Given the description of an element on the screen output the (x, y) to click on. 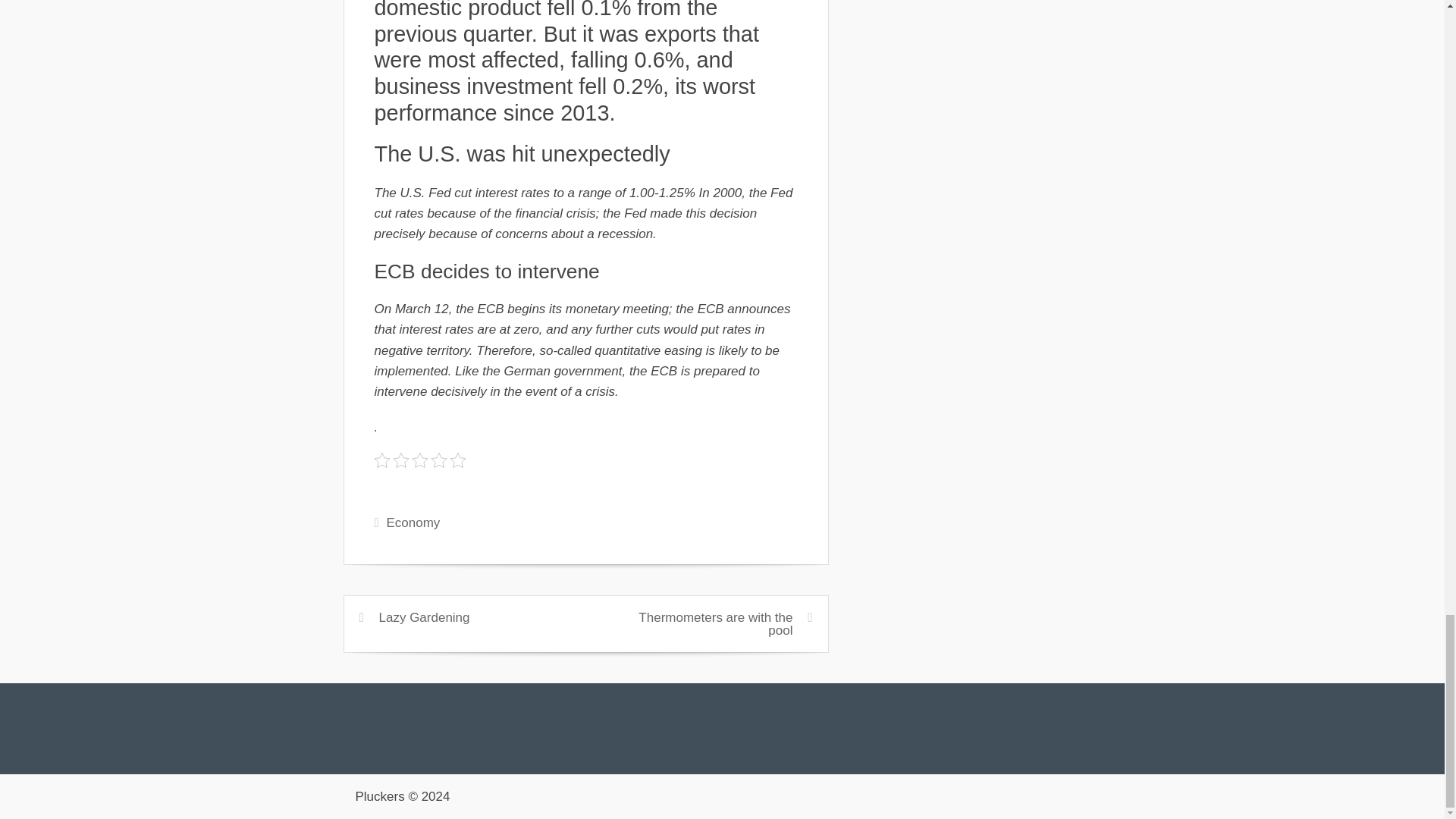
Lazy Gardening (424, 617)
Thermometers are with the pool (715, 624)
Economy (412, 522)
Pluckers (379, 796)
